Given the description of an element on the screen output the (x, y) to click on. 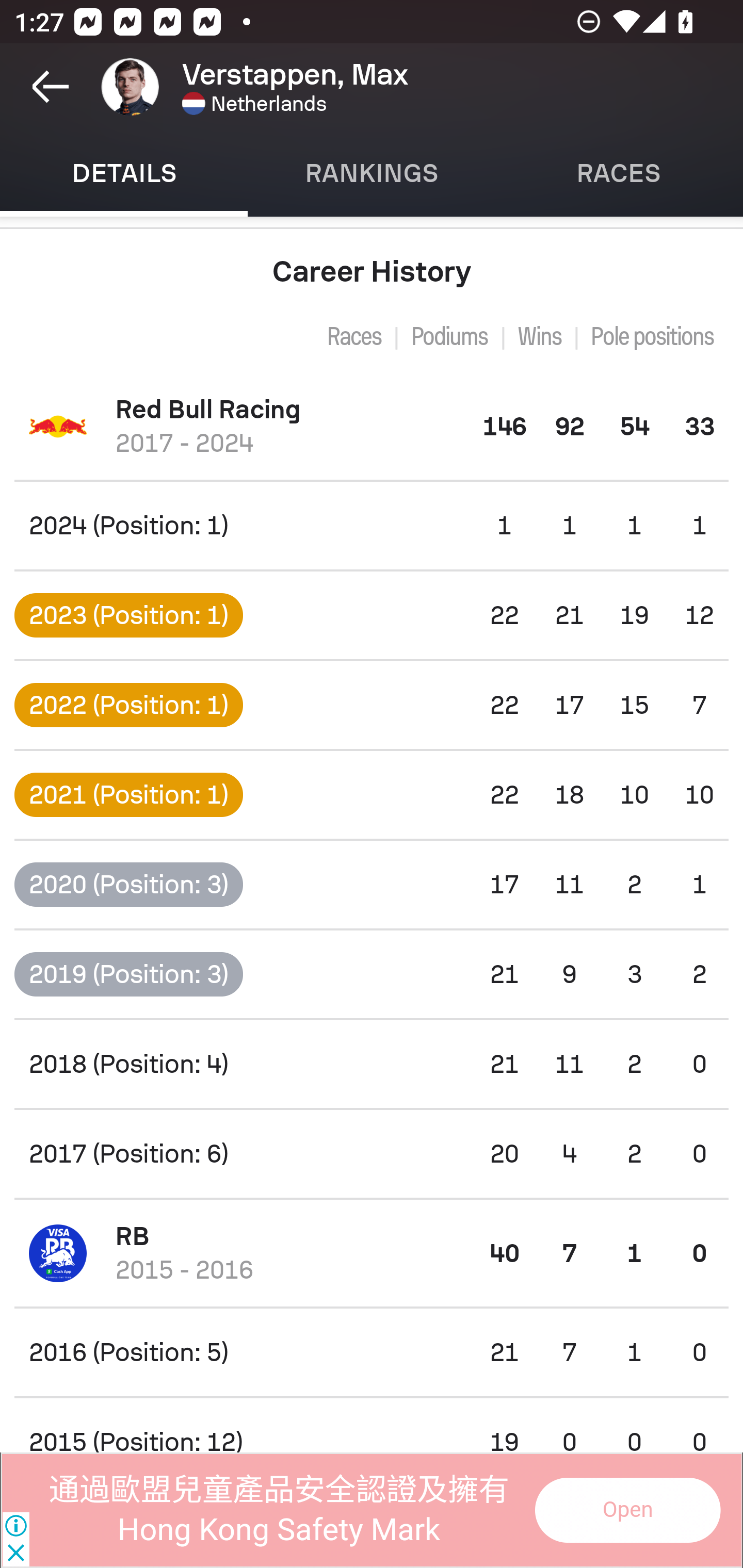
Navigate up (50, 86)
Rankings RANKINGS (371, 173)
Races RACES (619, 173)
Red Bull Racing 2017 - 2024 146 92 54 33 (371, 426)
2024 (Position: 1) 1 1 1 1 (371, 525)
2023 (Position: 1) 22 21 19 12 (371, 614)
2022 (Position: 1) 22 17 15 7 (371, 705)
2021 (Position: 1) 22 18 10 10 (371, 794)
2020 (Position: 3) 17 11 2 1 (371, 884)
2019 (Position: 3) 21 9 3 2 (371, 973)
2018 (Position: 4) 21 11 2 0 (371, 1064)
2017 (Position: 6) 20 4 2 0 (371, 1153)
RB 2015 - 2016 40 7 1 0 (371, 1252)
2016 (Position: 5) 21 7 1 0 (371, 1352)
2015 (Position: 12) 19 0 0 0 (371, 1424)
momomijapan (626, 1509)
